Given the description of an element on the screen output the (x, y) to click on. 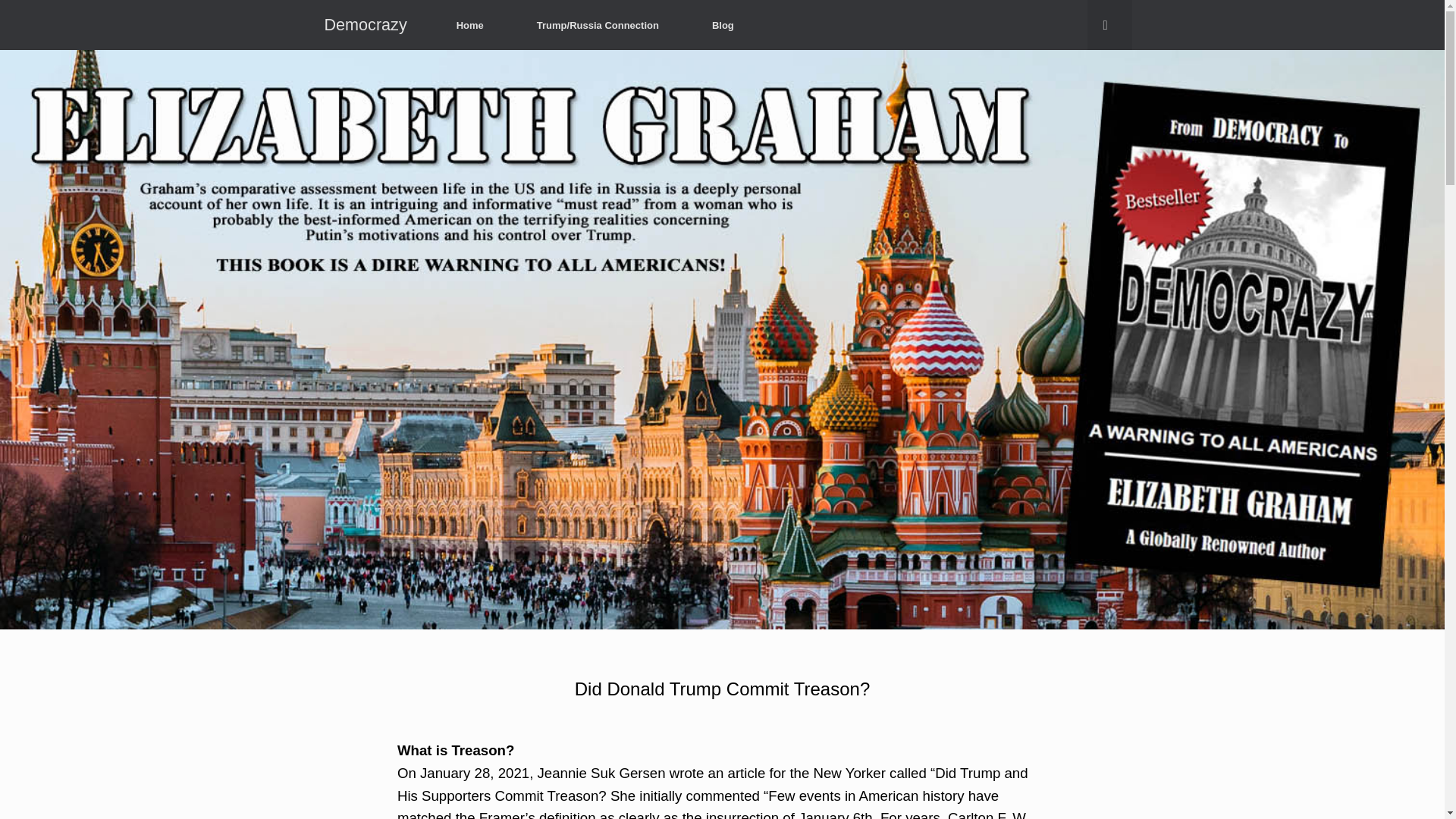
Democrazy (365, 24)
Blog (722, 24)
Home (470, 24)
Democrazy (365, 24)
